Given the description of an element on the screen output the (x, y) to click on. 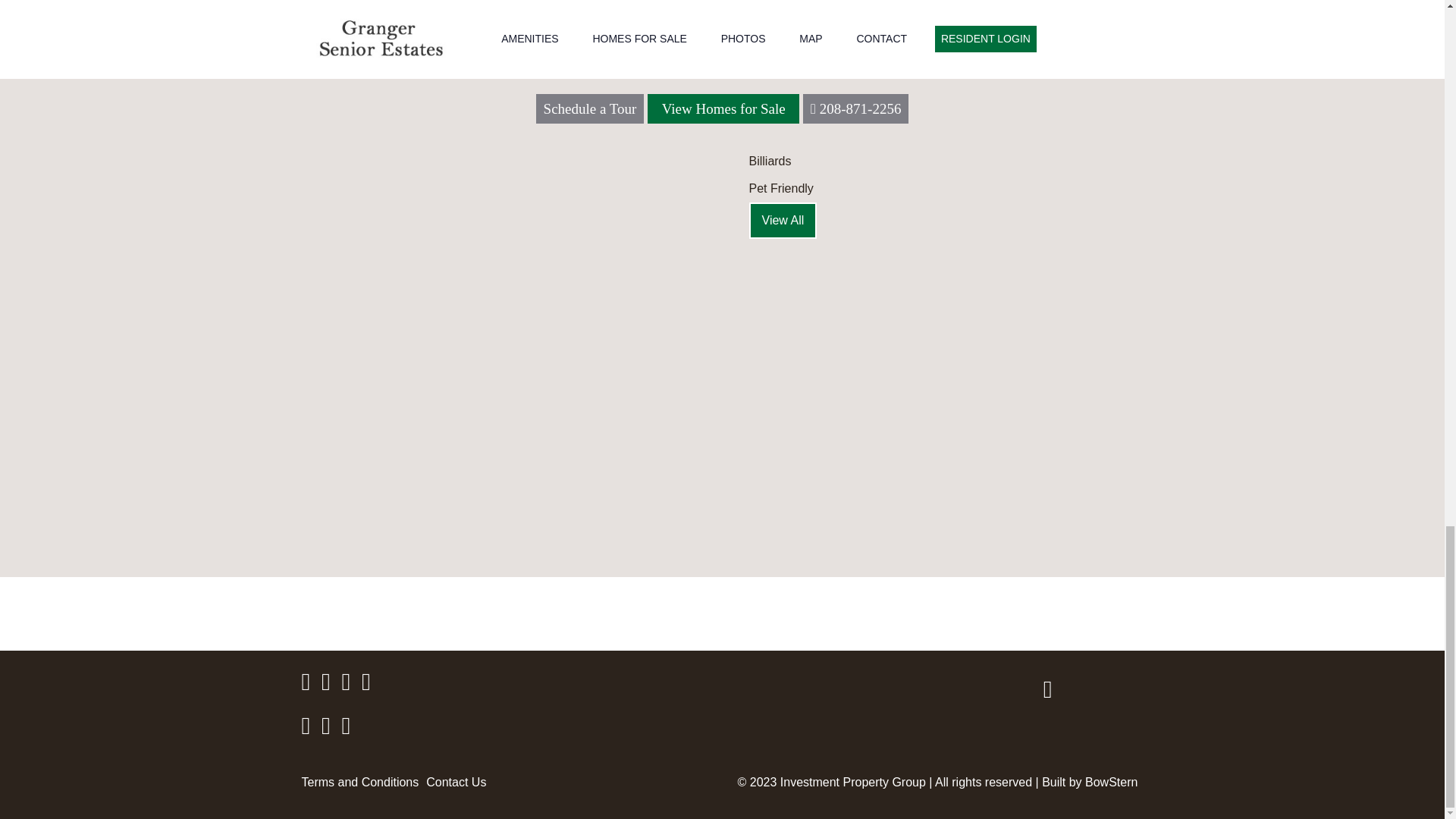
Investment Property Group (853, 781)
Twitter (329, 685)
Pinterest (369, 685)
Instagram (349, 685)
Go to Top of Page (1051, 693)
BowStern (1110, 781)
Yelp (329, 729)
Facebook (309, 685)
Terms and Conditions (360, 781)
Google Maps (349, 729)
Contact Us (456, 781)
View All (782, 219)
Youtube (309, 729)
View All (782, 220)
